Given the description of an element on the screen output the (x, y) to click on. 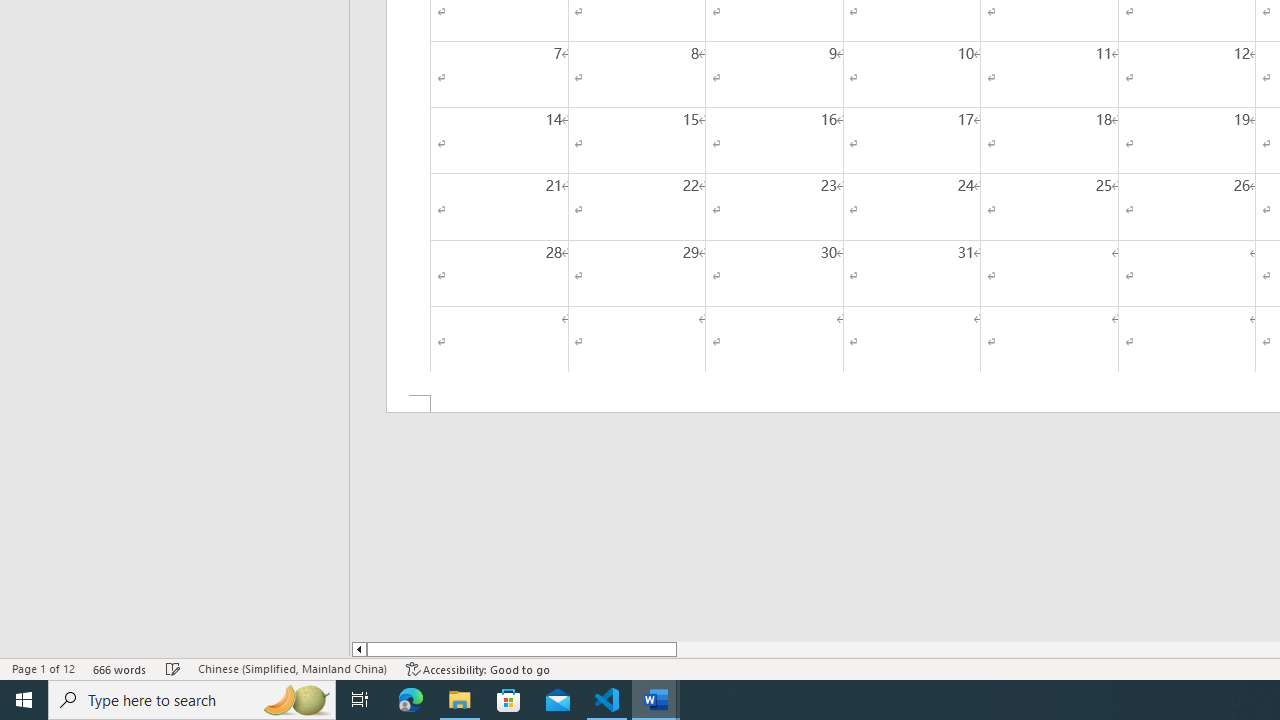
Page Number Page 1 of 12 (43, 668)
Accessibility Checker Accessibility: Good to go (478, 668)
Word Count 666 words (119, 668)
Language Chinese (Simplified, Mainland China) (292, 668)
Column left (358, 649)
Spelling and Grammar Check Checking (173, 668)
